Given the description of an element on the screen output the (x, y) to click on. 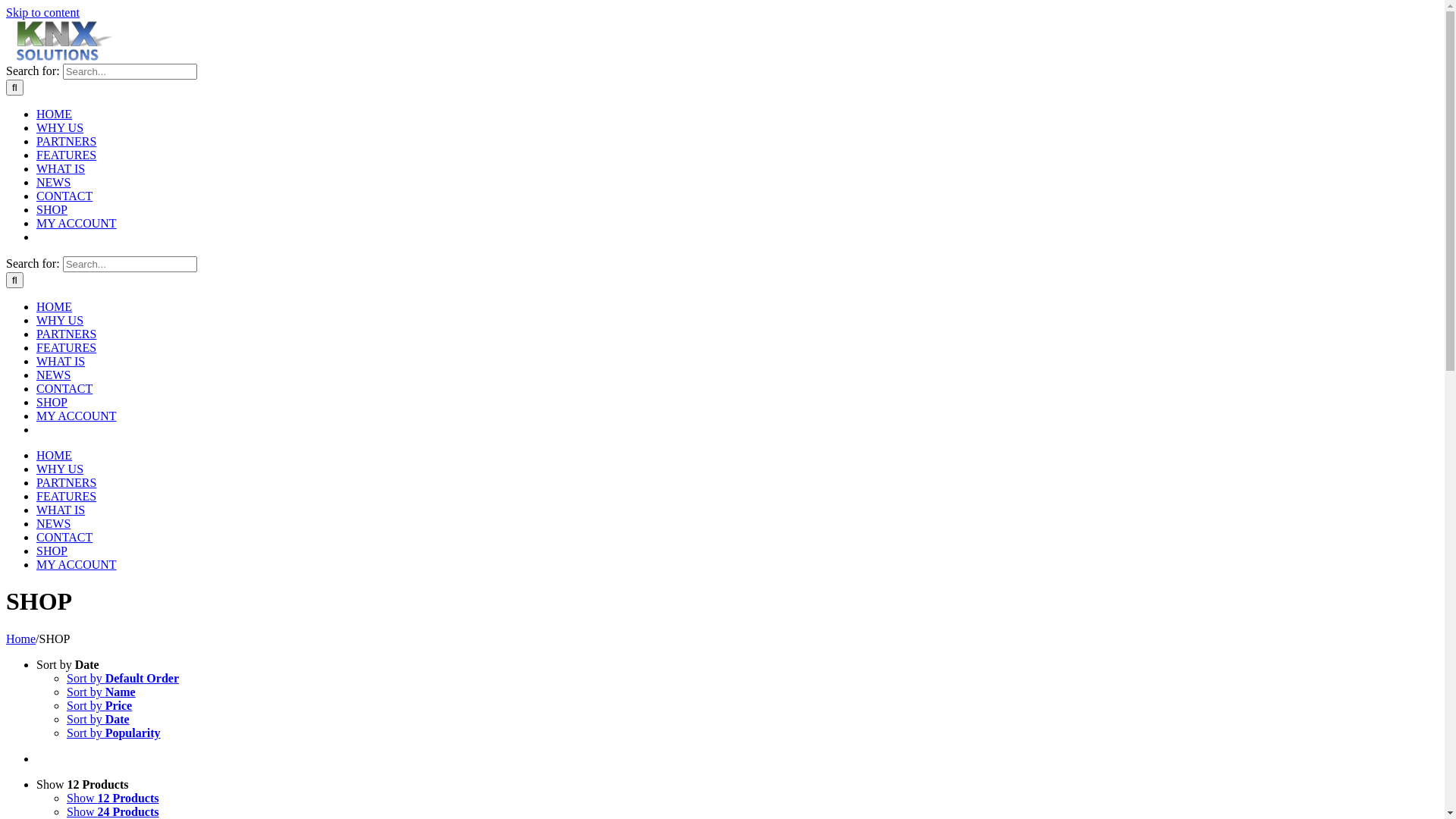
MY ACCOUNT Element type: text (76, 415)
PARTNERS Element type: text (66, 140)
Show 12 Products Element type: text (112, 797)
CONTACT Element type: text (64, 388)
FEATURES Element type: text (66, 347)
Show 24 Products Element type: text (112, 811)
HOME Element type: text (54, 113)
CONTACT Element type: text (64, 195)
SHOP Element type: text (51, 550)
NEWS Element type: text (53, 523)
Sort by Popularity Element type: text (113, 732)
WHY US Element type: text (59, 319)
SHOP Element type: text (51, 209)
Home Element type: text (20, 638)
FEATURES Element type: text (66, 154)
Show 12 Products Element type: text (82, 784)
Sort by Date Element type: text (97, 718)
WHAT IS Element type: text (60, 509)
CONTACT Element type: text (64, 536)
MY ACCOUNT Element type: text (76, 222)
WHAT IS Element type: text (60, 168)
Sort by Price Element type: text (98, 705)
HOME Element type: text (54, 454)
FEATURES Element type: text (66, 495)
Skip to content Element type: text (42, 12)
HOME Element type: text (54, 306)
NEWS Element type: text (53, 374)
Sort by Date Element type: text (67, 664)
WHAT IS Element type: text (60, 360)
SHOP Element type: text (51, 401)
PARTNERS Element type: text (66, 333)
MY ACCOUNT Element type: text (76, 564)
WHY US Element type: text (59, 468)
Sort by Default Order Element type: text (122, 677)
PARTNERS Element type: text (66, 482)
Sort by Name Element type: text (100, 691)
NEWS Element type: text (53, 181)
WHY US Element type: text (59, 127)
